Given the description of an element on the screen output the (x, y) to click on. 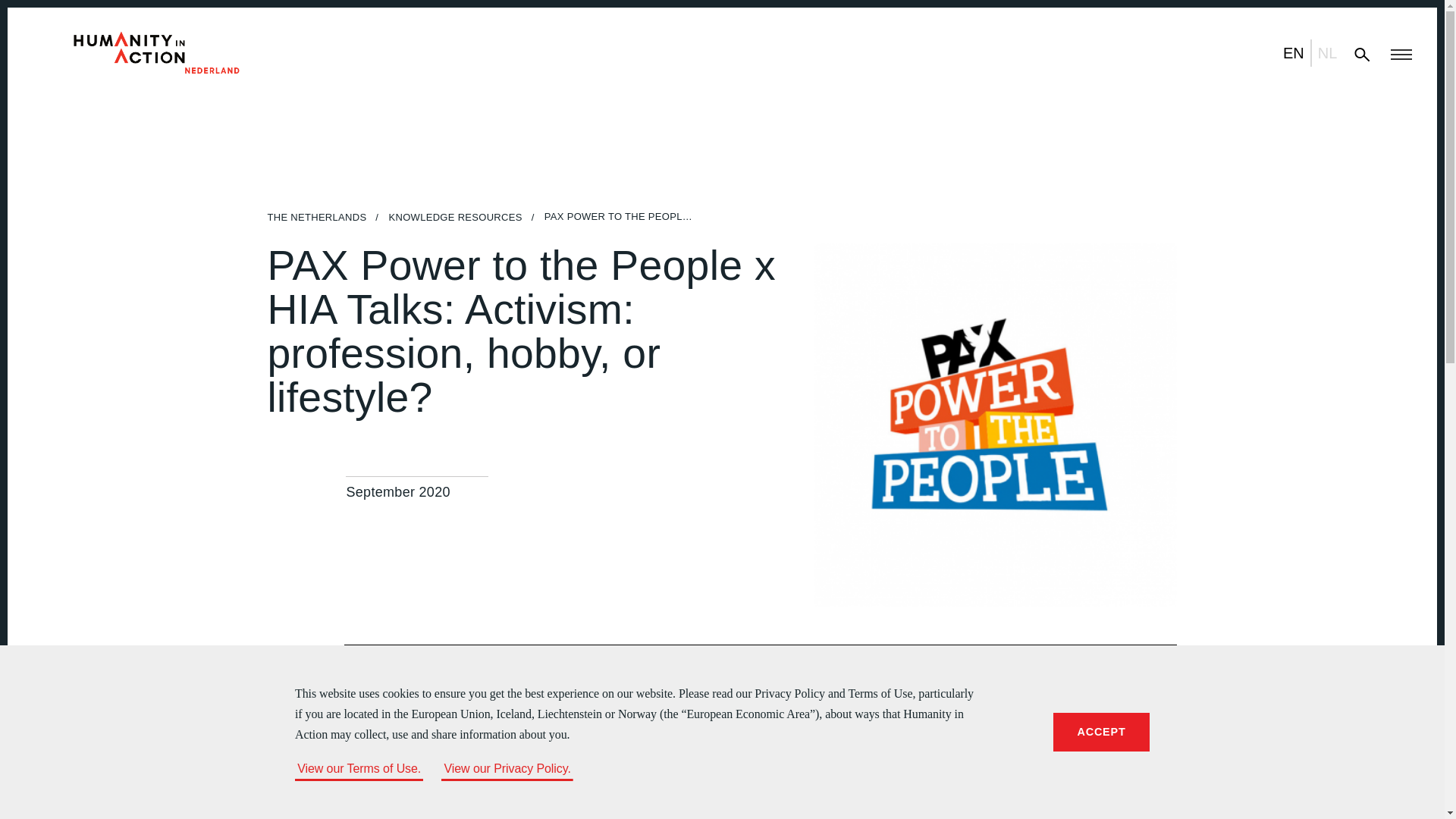
View our Privacy Policy. (507, 768)
View our Terms of Use. (359, 768)
EN (1327, 52)
ACCEPT (1293, 52)
